Given the description of an element on the screen output the (x, y) to click on. 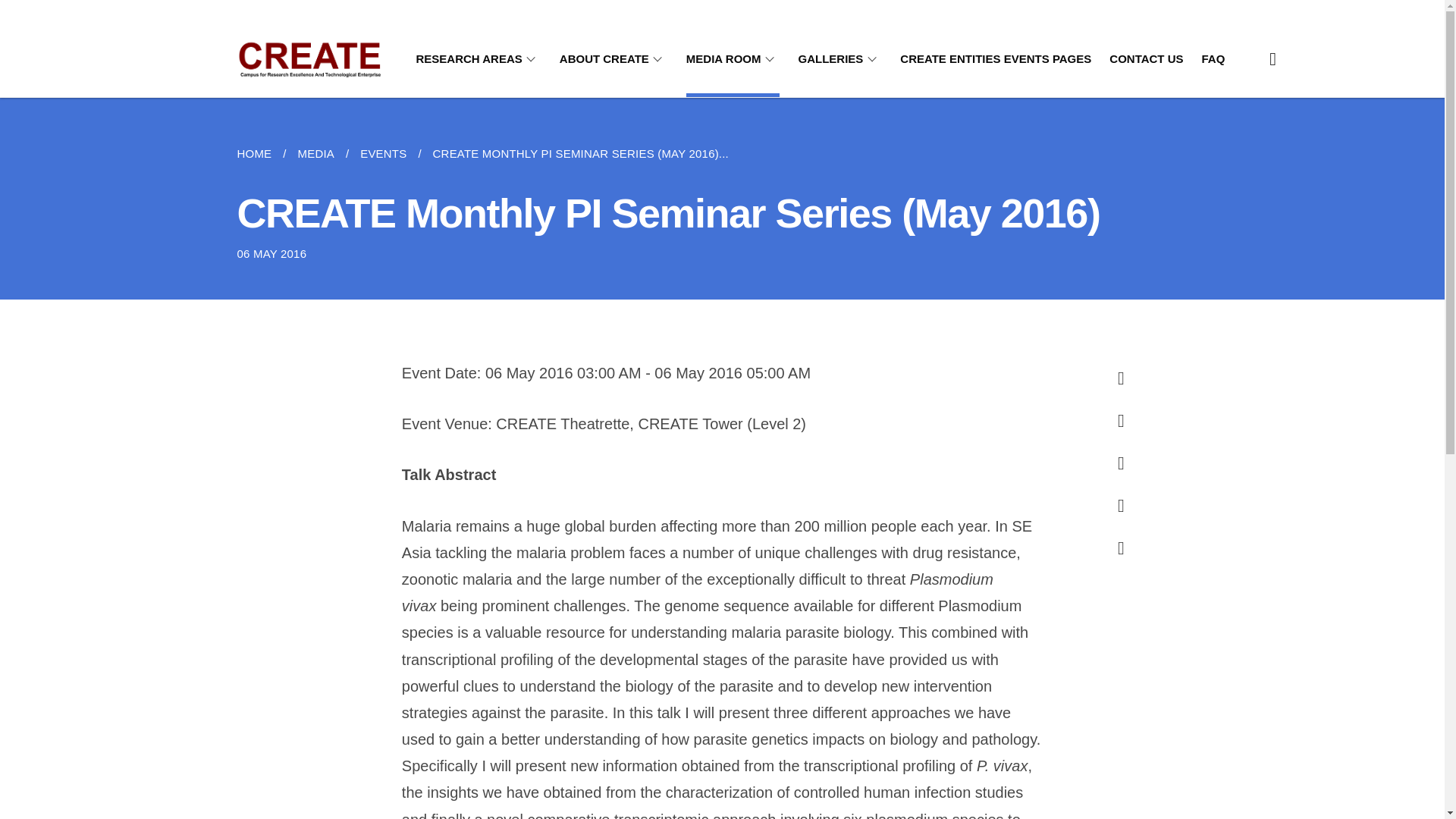
RESEARCH AREAS (477, 59)
CREATE ENTITIES EVENTS PAGES (994, 59)
EVENTS (383, 153)
GALLERIES (839, 59)
ABOUT CREATE (613, 59)
MEDIA ROOM (732, 59)
HOME (258, 153)
MEDIA (315, 153)
CONTACT US (1145, 59)
